Given the description of an element on the screen output the (x, y) to click on. 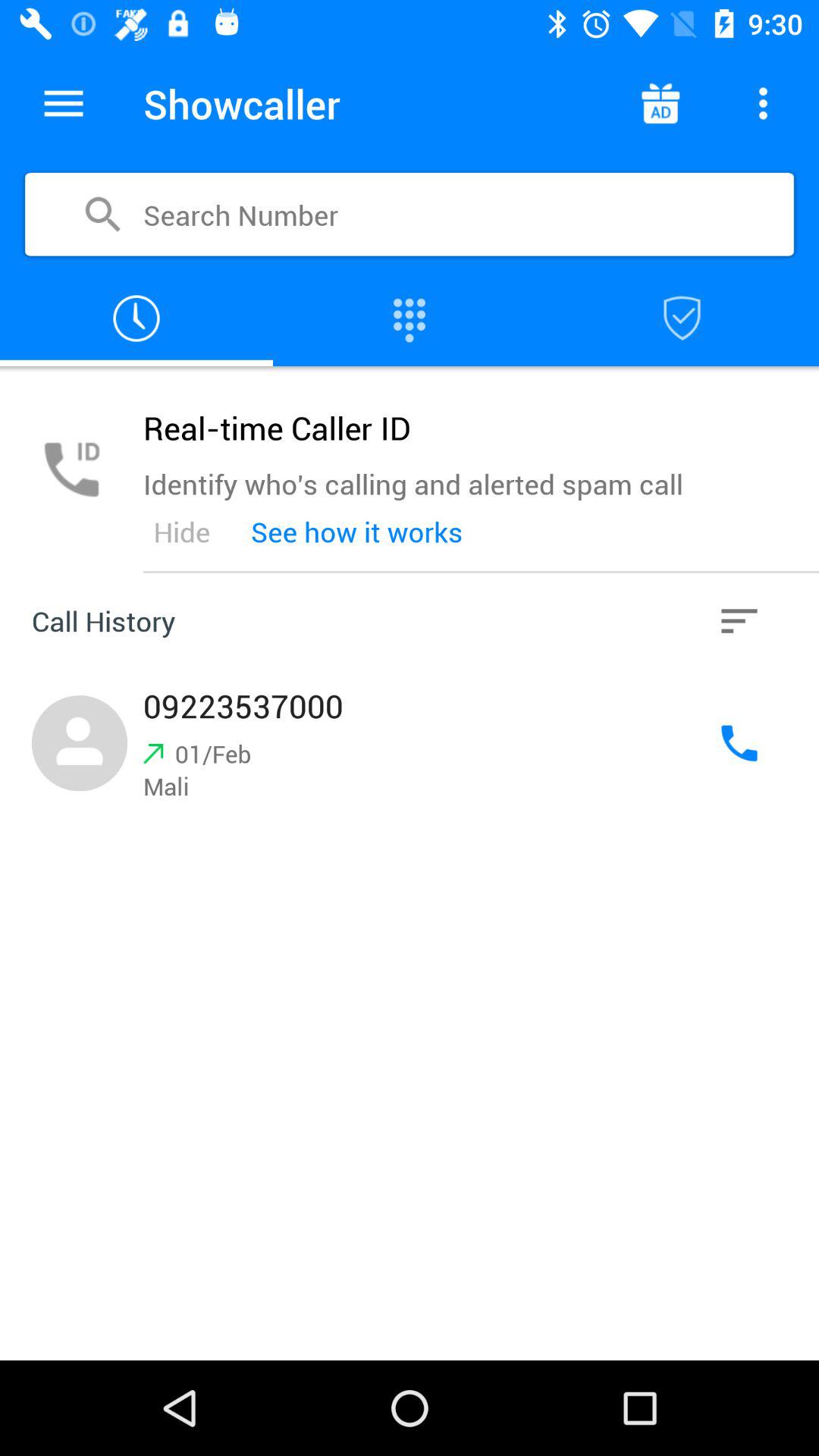
open options tab (63, 103)
